Given the description of an element on the screen output the (x, y) to click on. 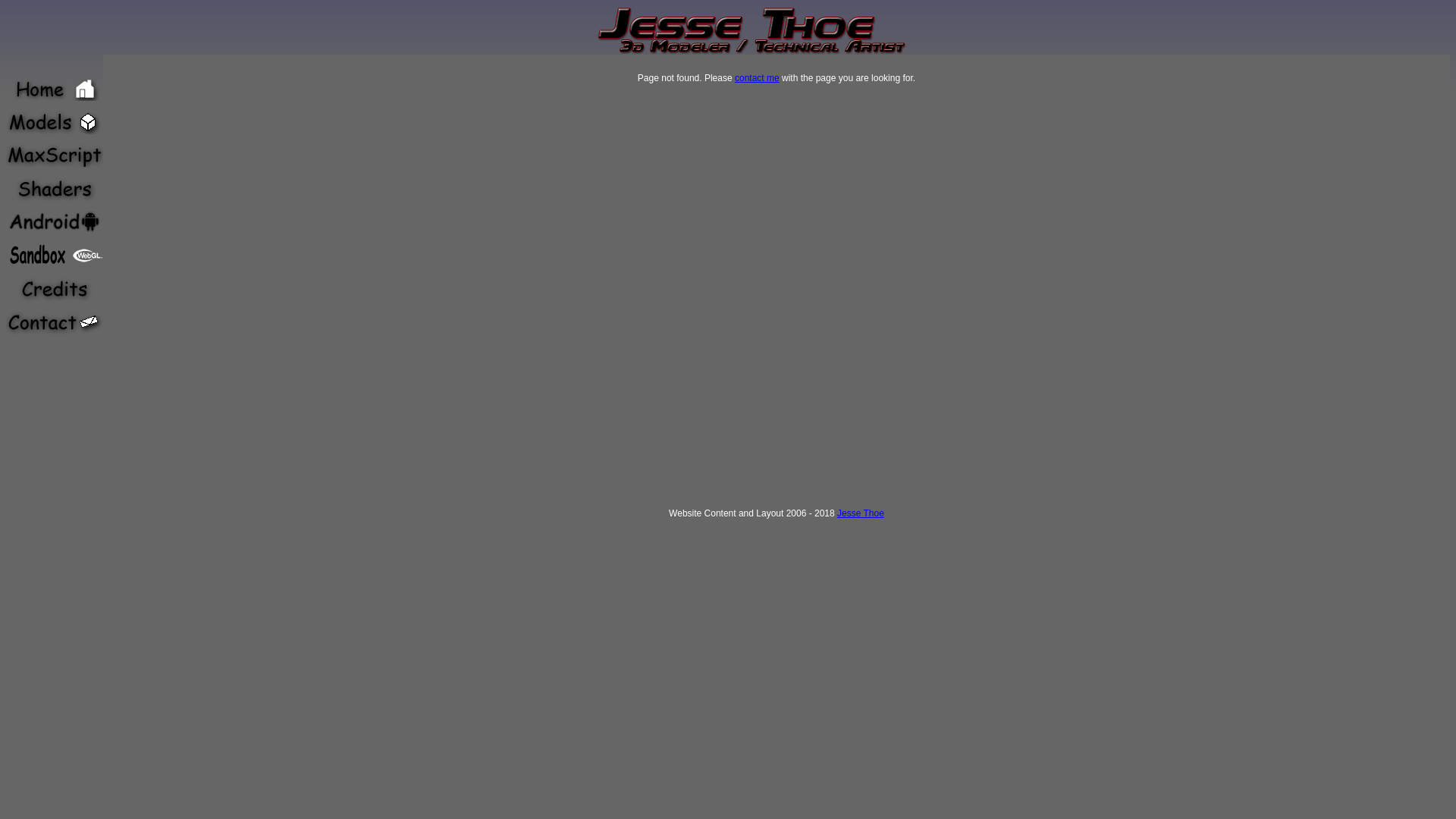
contact me Element type: text (756, 77)
Jesse Thoe Element type: text (860, 513)
